Given the description of an element on the screen output the (x, y) to click on. 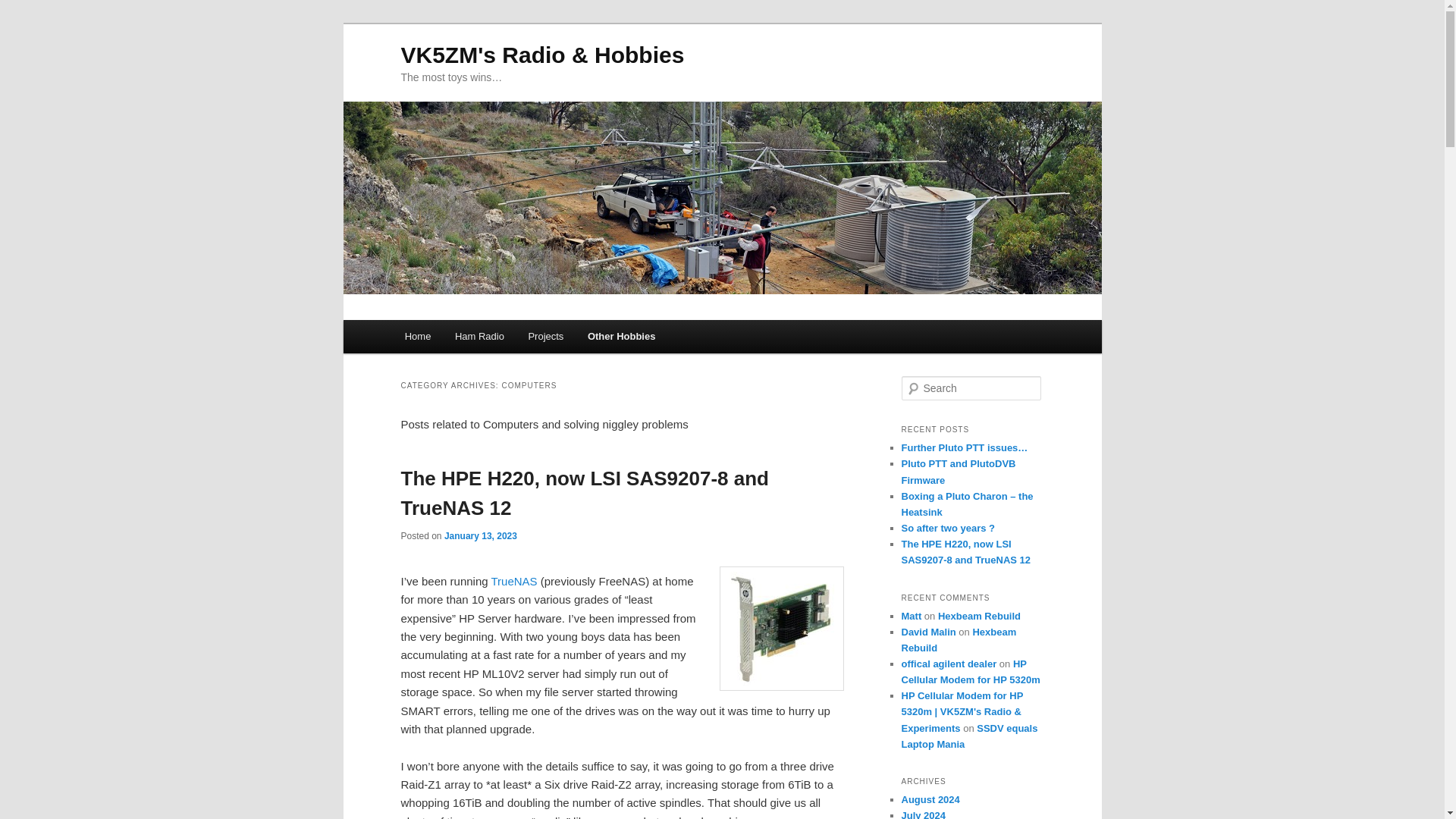
Home (417, 336)
Projects (545, 336)
TrueNAS (515, 581)
8:00 pm (480, 535)
The HPE H220, now LSI SAS9207-8 and TrueNAS 12 (584, 492)
January 13, 2023 (480, 535)
Other Hobbies (620, 336)
Ham Radio (479, 336)
